Given the description of an element on the screen output the (x, y) to click on. 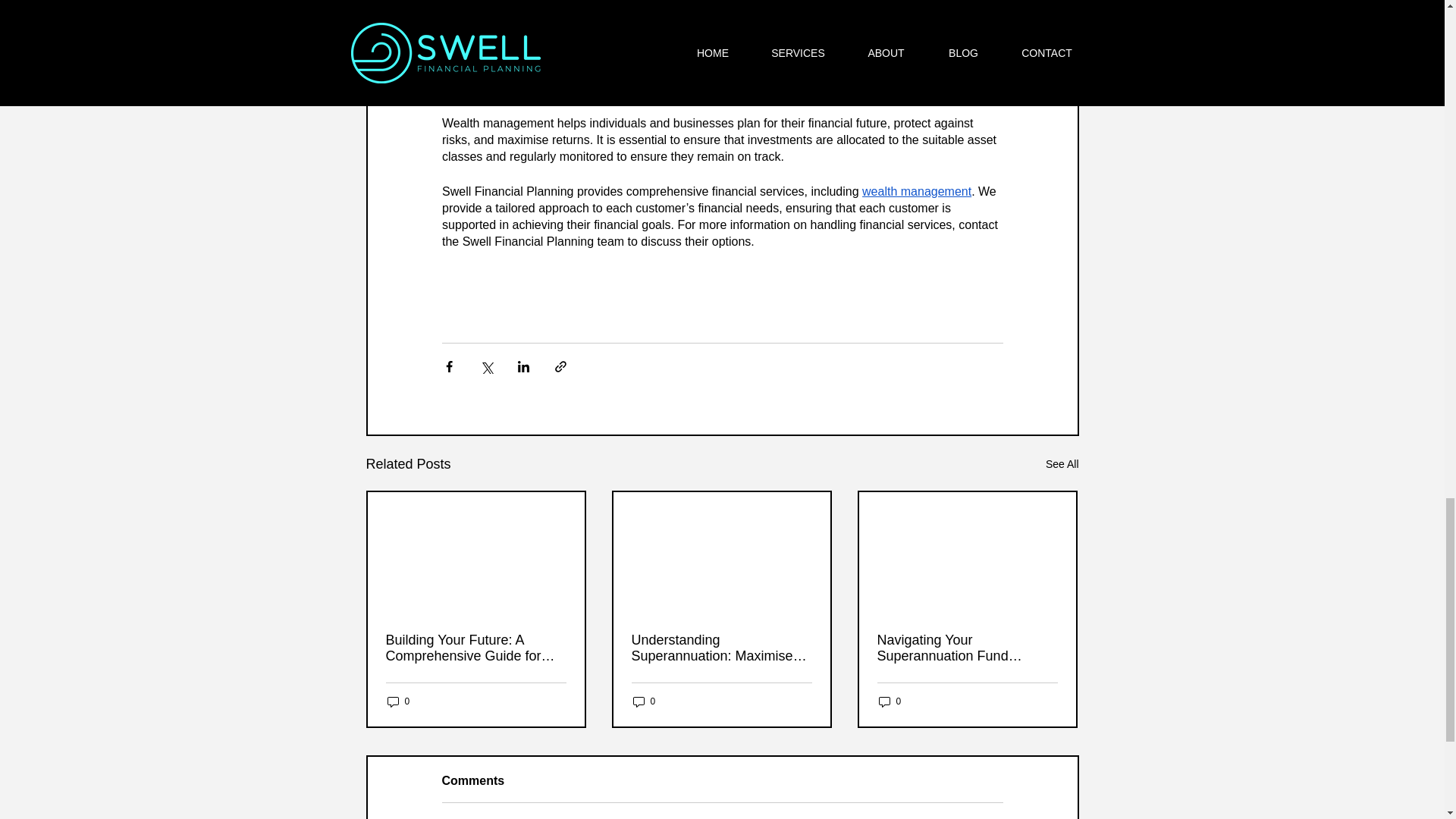
0 (643, 701)
0 (397, 701)
wealth management (916, 191)
0 (889, 701)
See All (1061, 464)
